Given the description of an element on the screen output the (x, y) to click on. 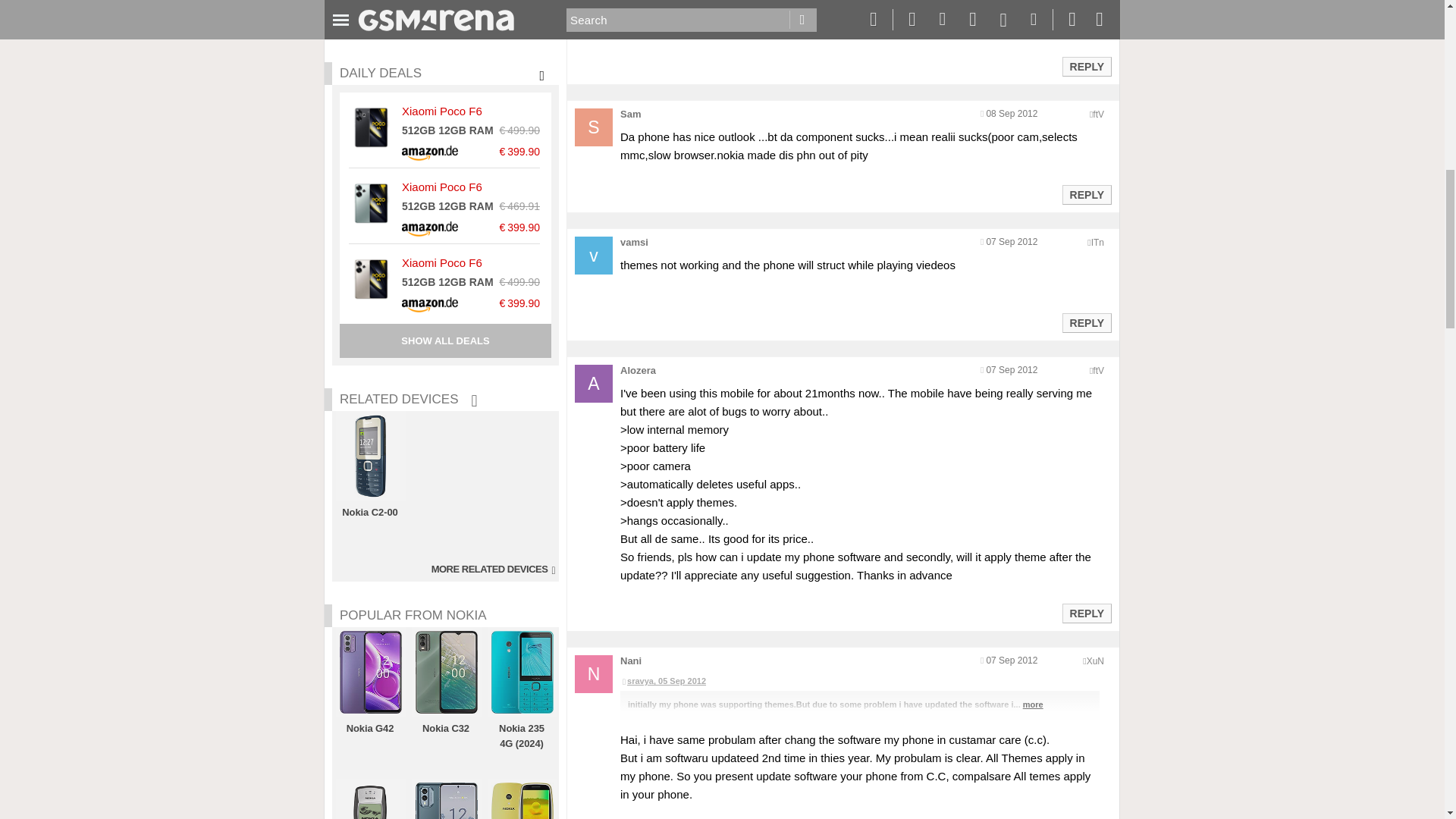
Encoded anonymized location (1098, 113)
Encoded anonymized location (1096, 242)
Encoded anonymized location (1098, 370)
Encoded anonymized location (1094, 661)
Reply to this post (1086, 194)
Reply to this post (1086, 613)
Reply to this post (1086, 322)
Reply to this post (1086, 66)
